Given the description of an element on the screen output the (x, y) to click on. 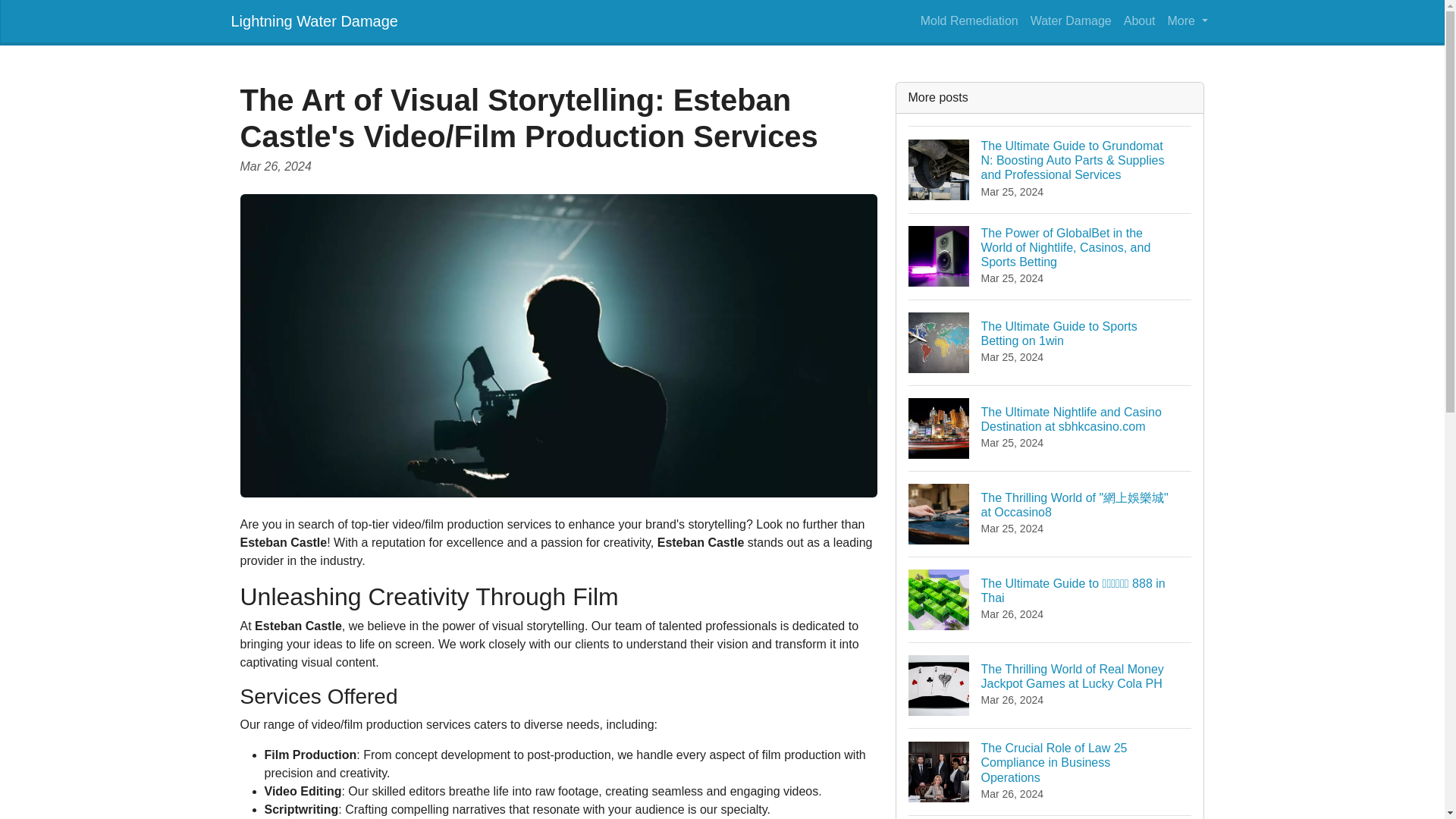
Lightning Water Damage (313, 20)
Water Damage (1050, 816)
More (1071, 20)
Mold Remediation (1050, 341)
About (1187, 20)
